Given the description of an element on the screen output the (x, y) to click on. 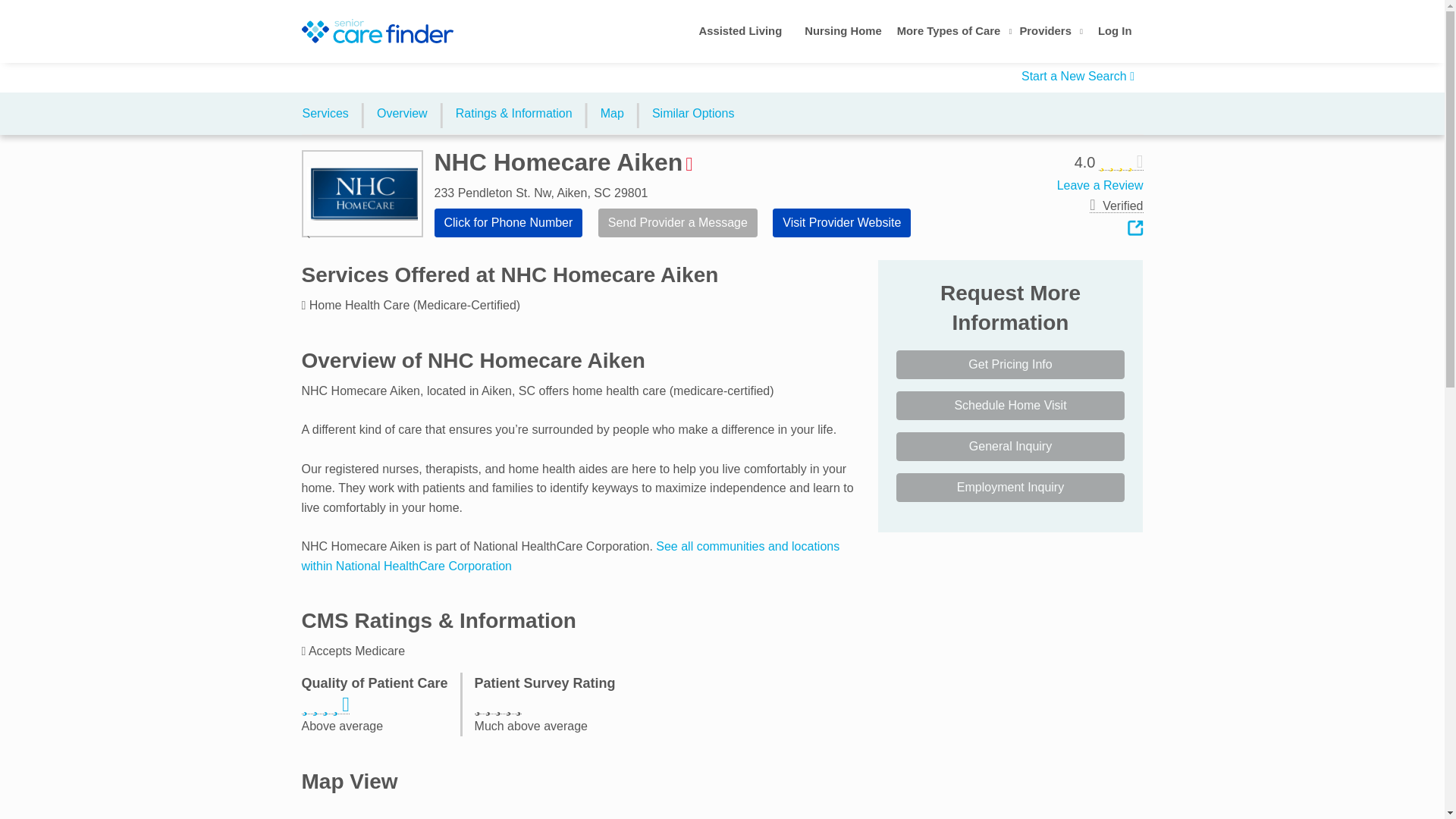
More Types of Care (953, 33)
Providers (1051, 33)
Start a New Search (1078, 75)
Get Pricing Info (1010, 364)
Map (612, 113)
Leave a Review (1099, 185)
Services (328, 113)
Send Provider a Message (677, 222)
Nursing Home (842, 33)
